Given the description of an element on the screen output the (x, y) to click on. 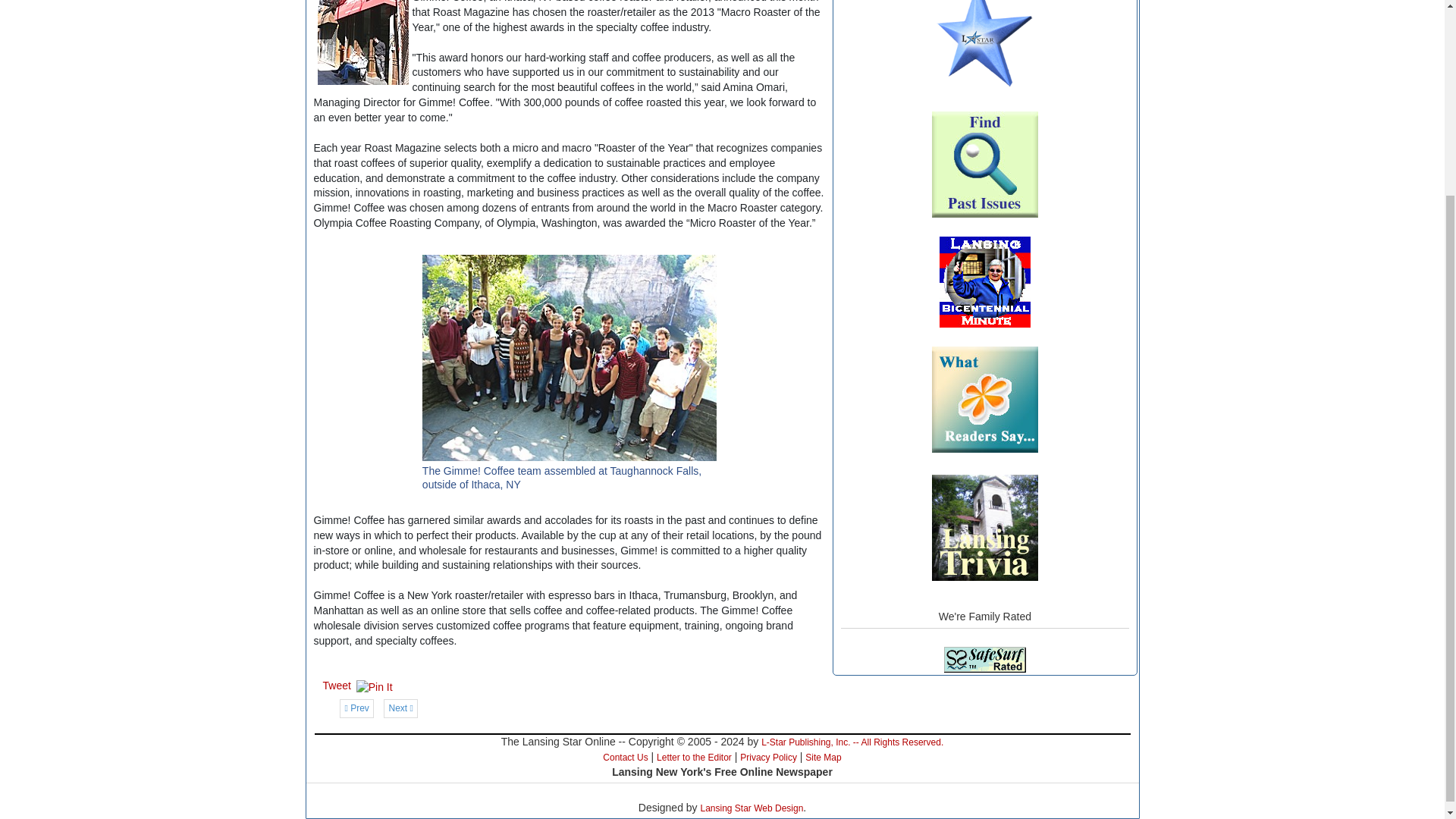
Letter to the Editor (694, 757)
L-Star Publishing, Inc. -- All Rights Reserved. (852, 742)
Tweet (336, 685)
Contact Us (624, 757)
Next (400, 708)
Prev (355, 708)
Lansing Star Web Design (751, 808)
Privacy Policy (767, 757)
Site Map (823, 757)
